Given the description of an element on the screen output the (x, y) to click on. 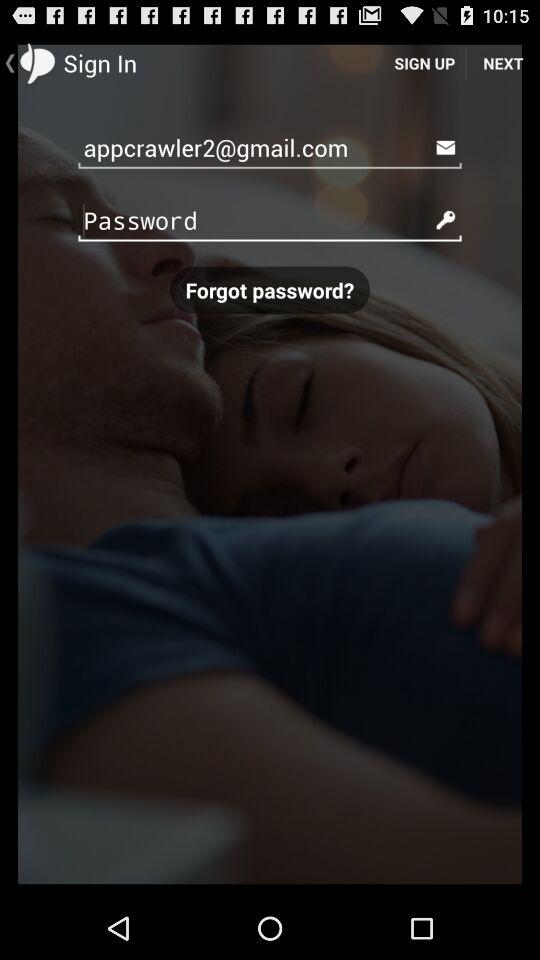
open the icon above appcrawler2@gmail.com item (424, 62)
